Given the description of an element on the screen output the (x, y) to click on. 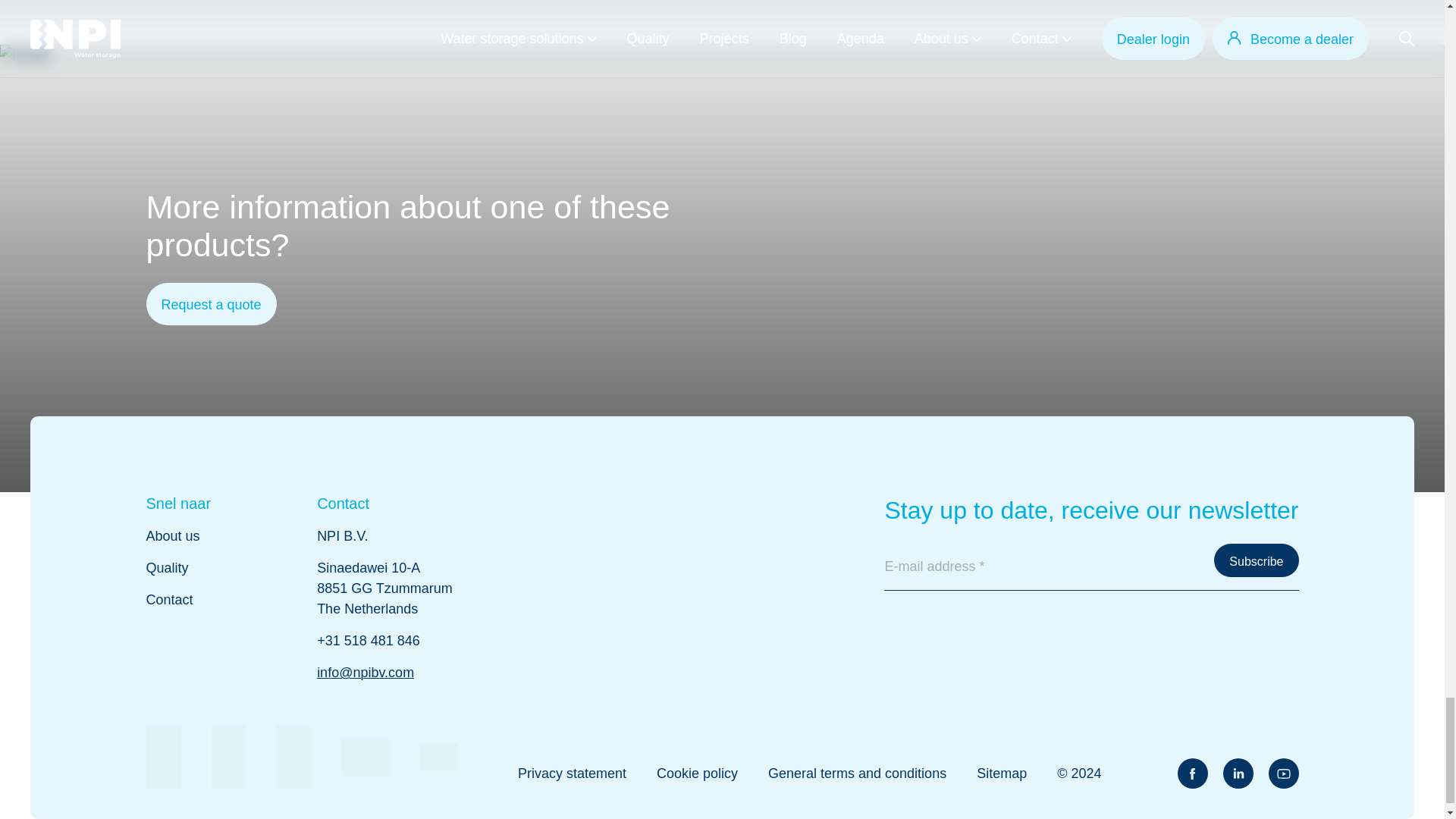
Request a quote (210, 303)
Facebook (1191, 773)
LinkedIn (1237, 773)
YouTube (1283, 773)
Subscribe (1256, 560)
E-mail address (1090, 566)
